Given the description of an element on the screen output the (x, y) to click on. 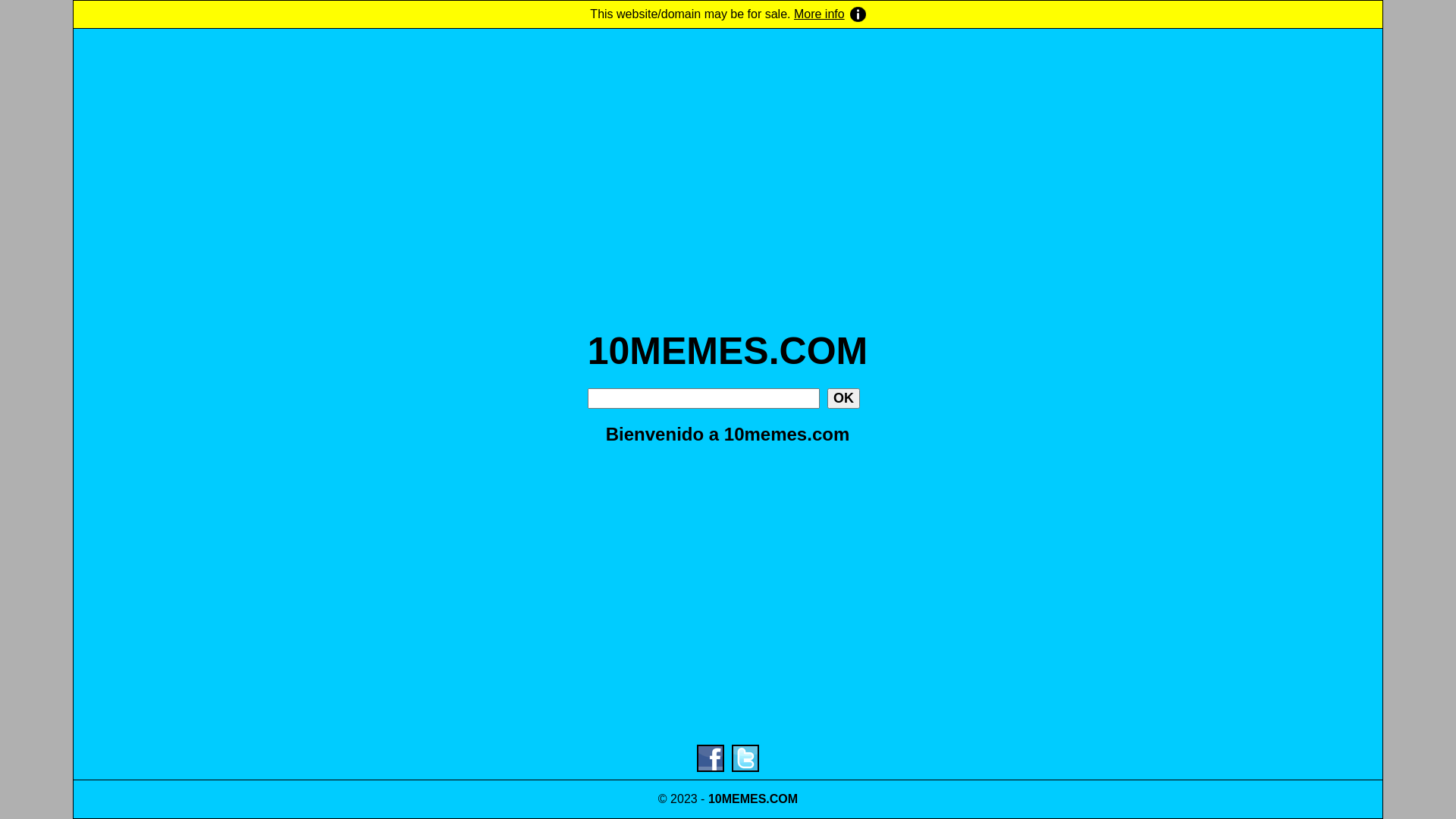
OK Element type: text (843, 398)
twitter Element type: hover (745, 757)
More info Element type: text (829, 13)
facebook Element type: hover (710, 757)
10MEMES.COM Element type: text (727, 350)
10MEMES Element type: text (736, 798)
